Given the description of an element on the screen output the (x, y) to click on. 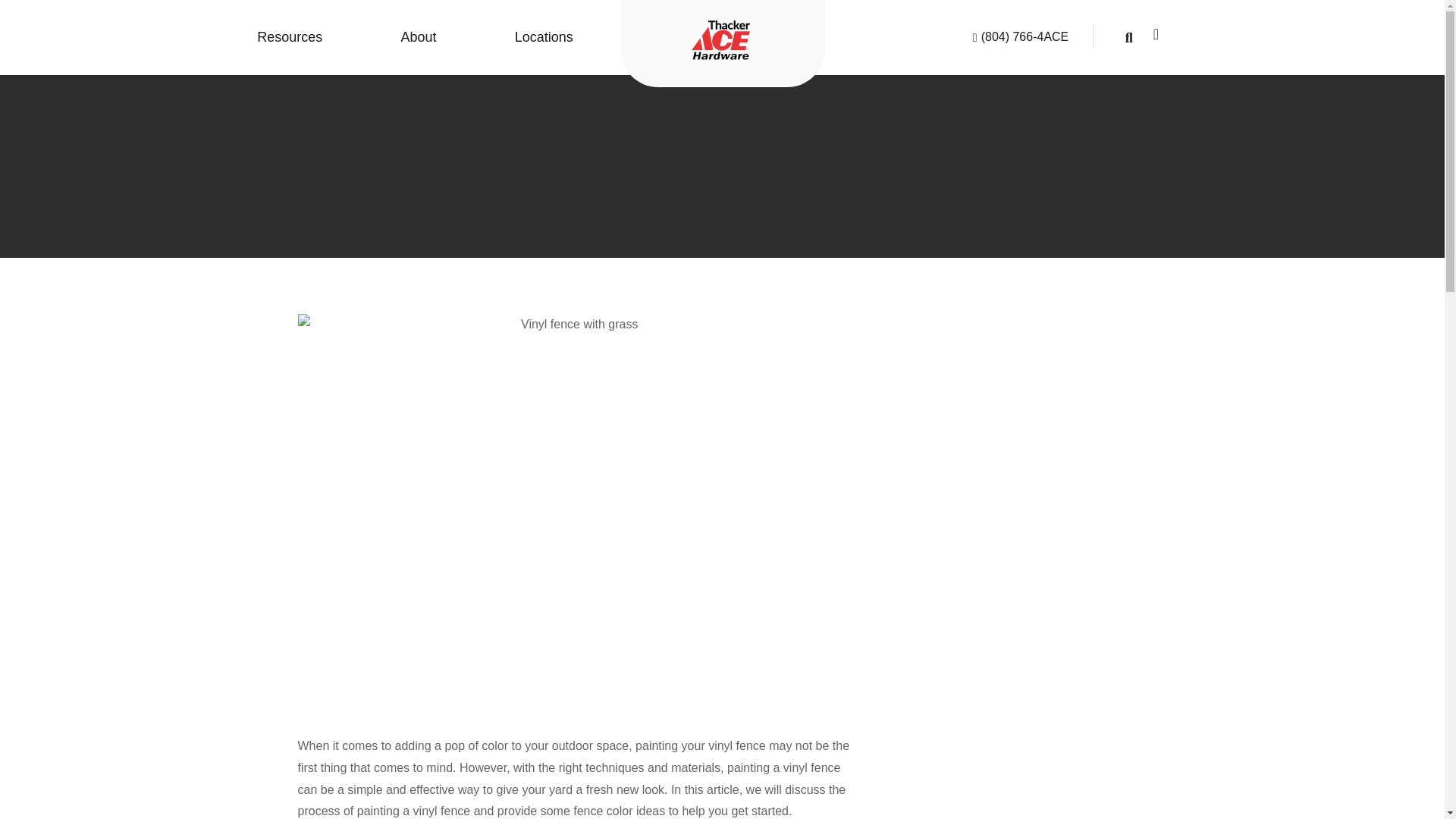
Locations (543, 37)
Resources (289, 37)
About (418, 37)
